Given the description of an element on the screen output the (x, y) to click on. 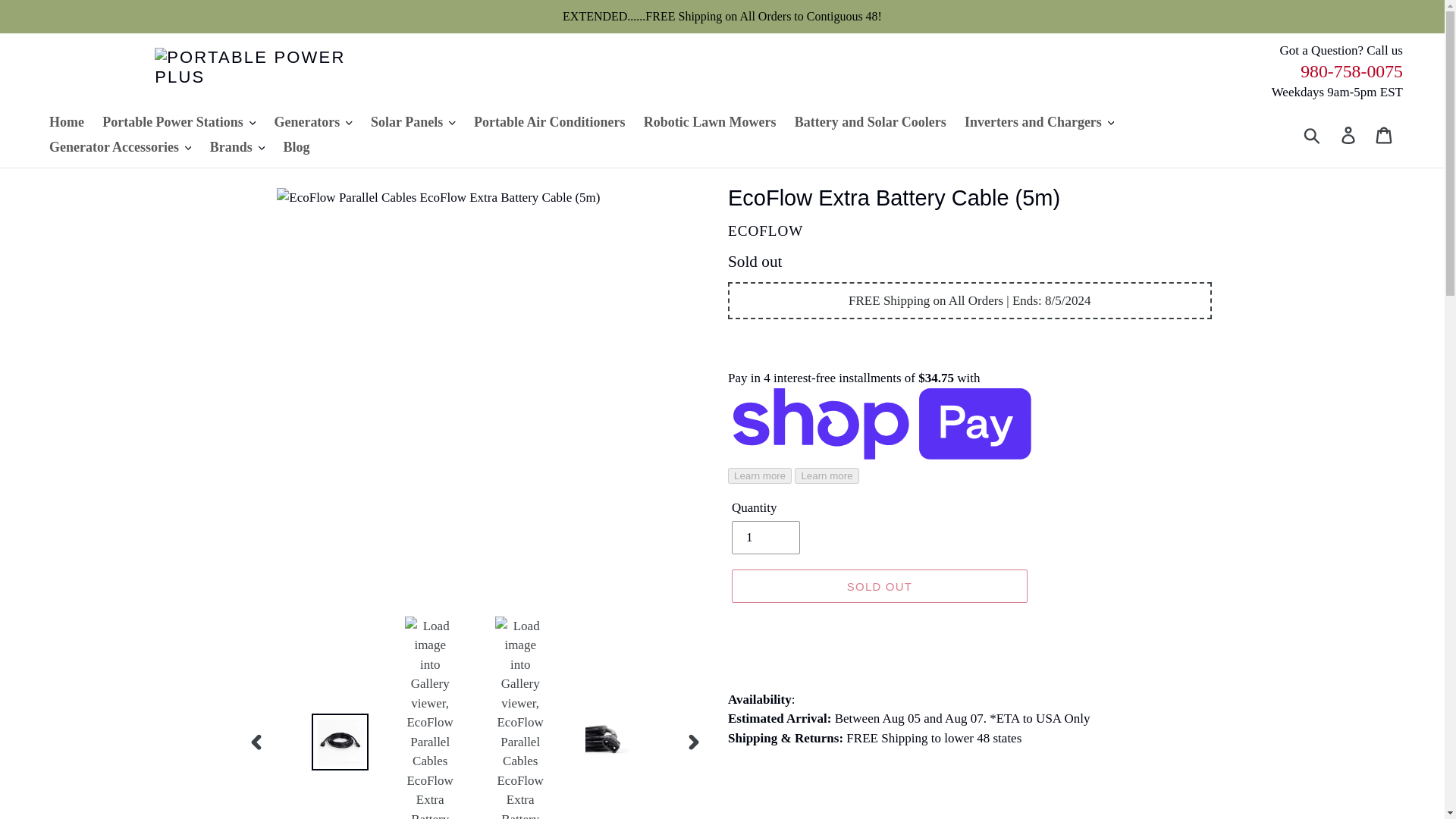
Portable Air Conditioners (549, 121)
Home (66, 121)
1 (765, 537)
Robotic Lawn Mowers (710, 121)
Battery and Solar Coolers (870, 121)
